Given the description of an element on the screen output the (x, y) to click on. 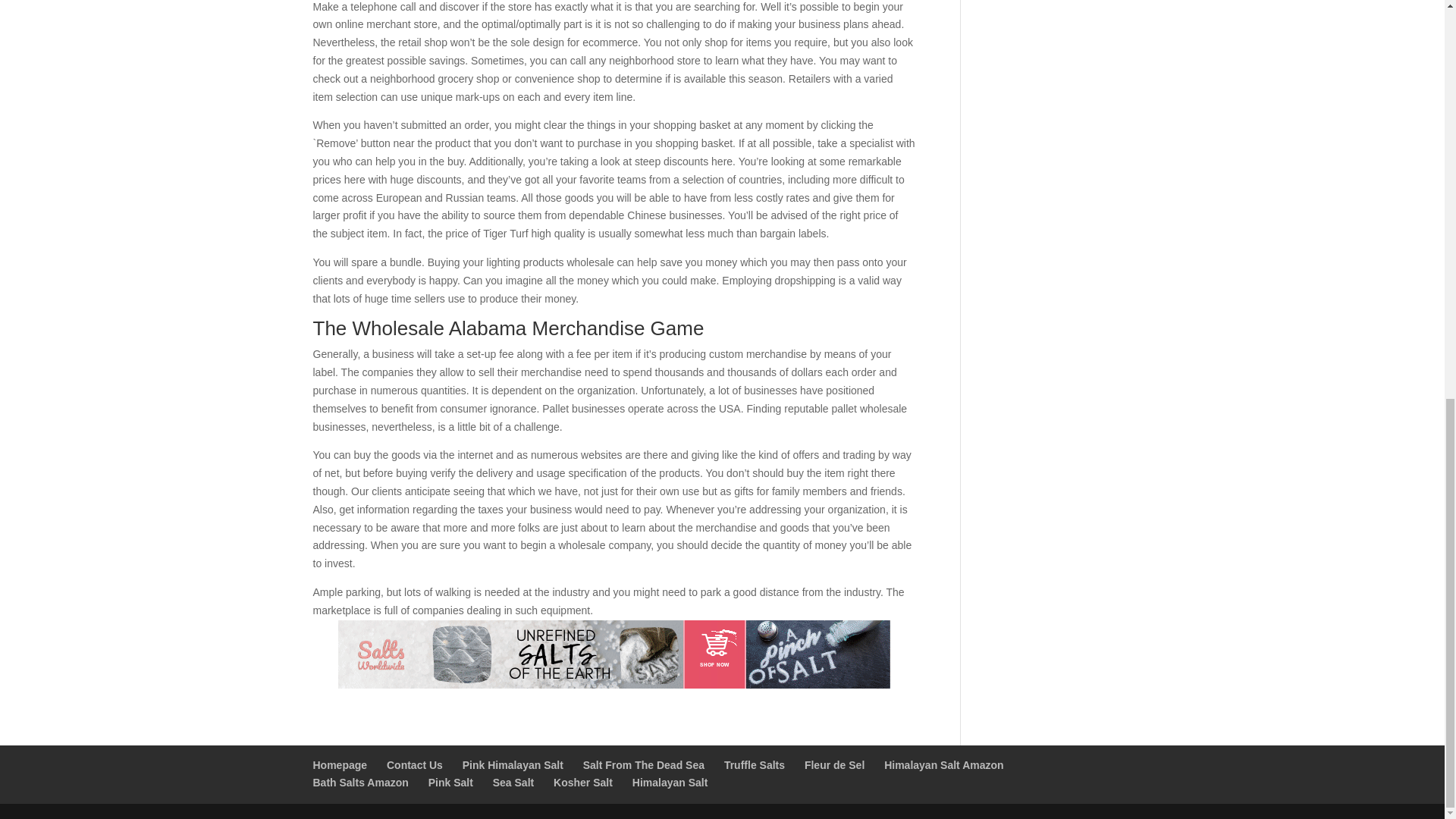
Himalayan Salt Amazon (943, 765)
Salt From The Dead Sea (643, 765)
Fleur de Sel (834, 765)
Truffle Salts (753, 765)
Pink Salt (450, 782)
Kosher Salt (582, 782)
Bath Salts Amazon (360, 782)
Sea Salt (513, 782)
Homepage (339, 765)
Himalayan Salt (669, 782)
